Given the description of an element on the screen output the (x, y) to click on. 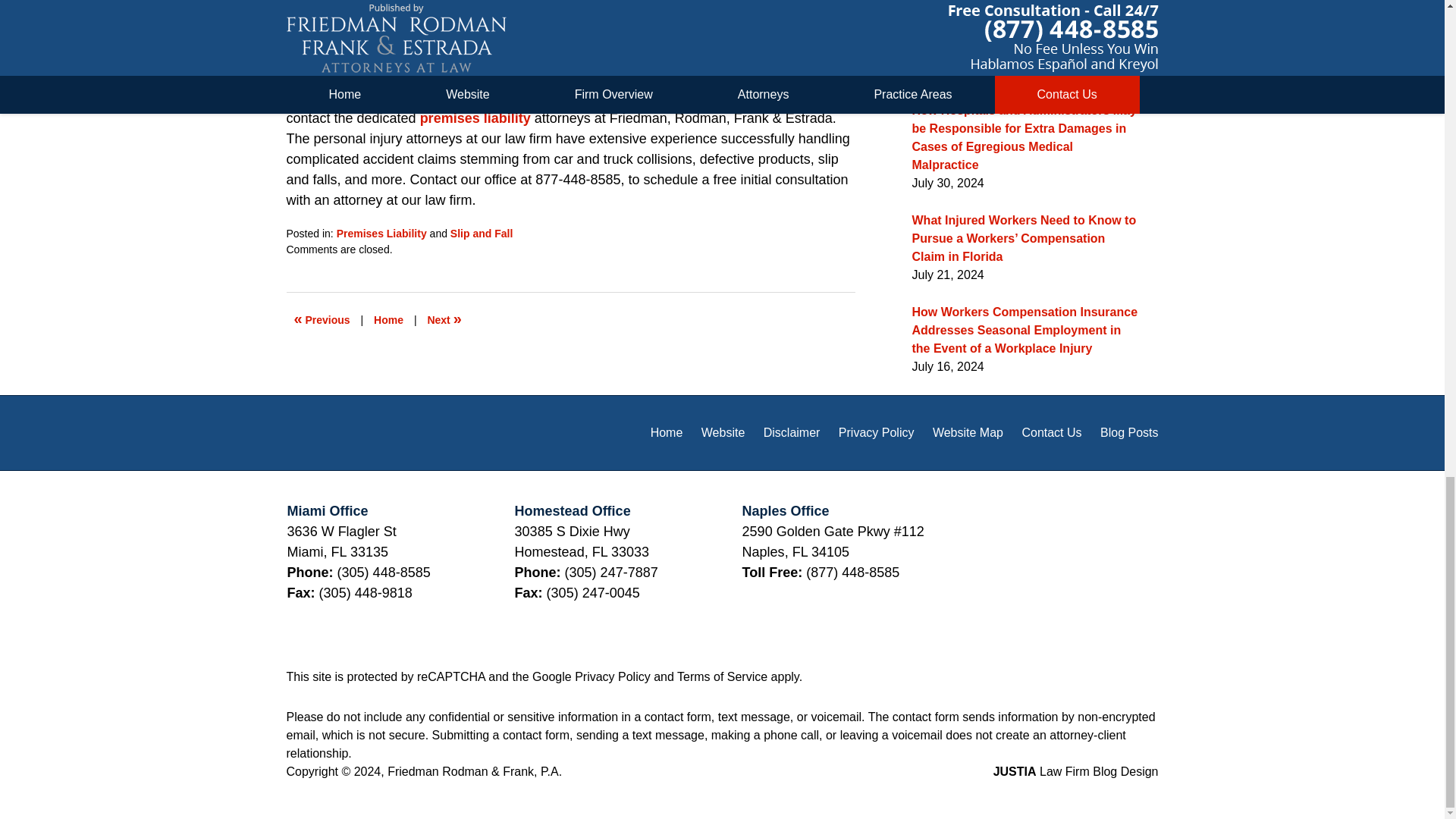
View all posts in Premises Liability (381, 233)
Premises Liability (381, 233)
Slip and Fall (480, 233)
Home (388, 319)
View all posts in Slip and Fall (480, 233)
premises liability (475, 118)
